Given the description of an element on the screen output the (x, y) to click on. 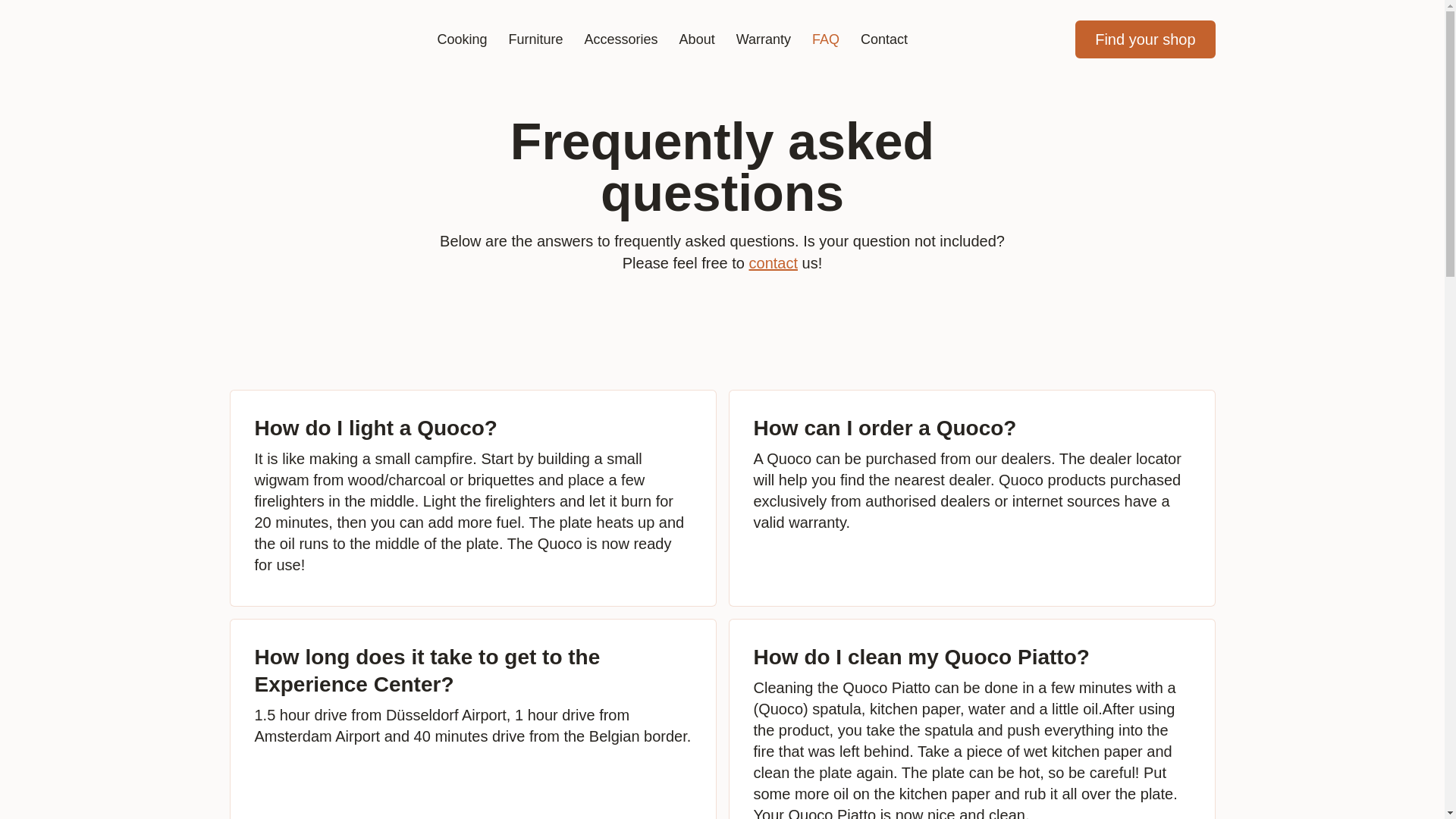
FAQ (825, 39)
Accessories (620, 39)
contact (773, 262)
Cooking (461, 39)
Furniture (535, 39)
About (696, 39)
Find your shop (1144, 39)
Warranty (763, 39)
Contact (884, 39)
